Given the description of an element on the screen output the (x, y) to click on. 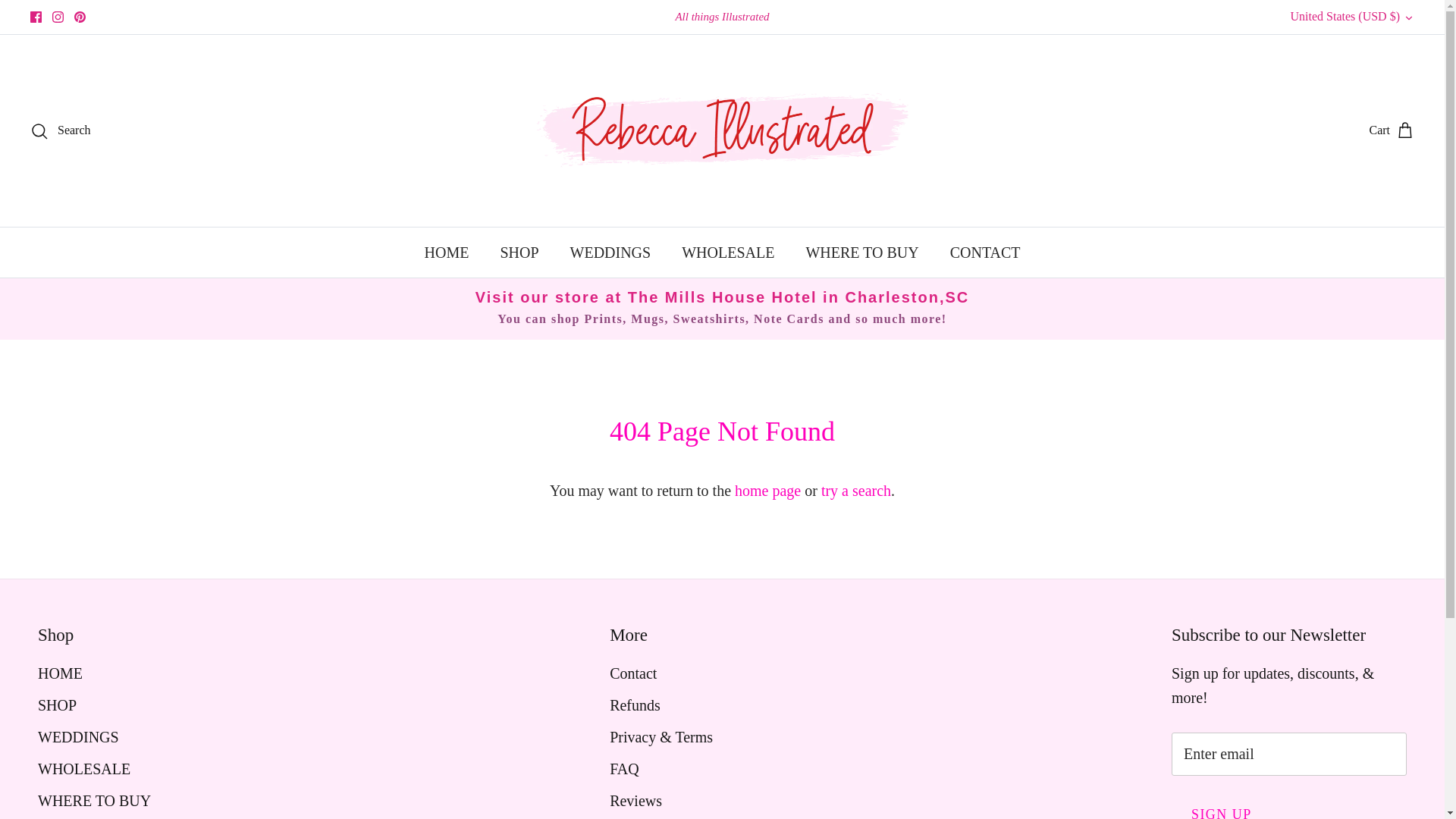
Instagram (58, 16)
Pinterest (79, 16)
Facebook (36, 16)
Down (1408, 18)
Facebook (36, 16)
Rebecca Illustrated  (721, 130)
Instagram (58, 16)
Pinterest (79, 16)
